Given the description of an element on the screen output the (x, y) to click on. 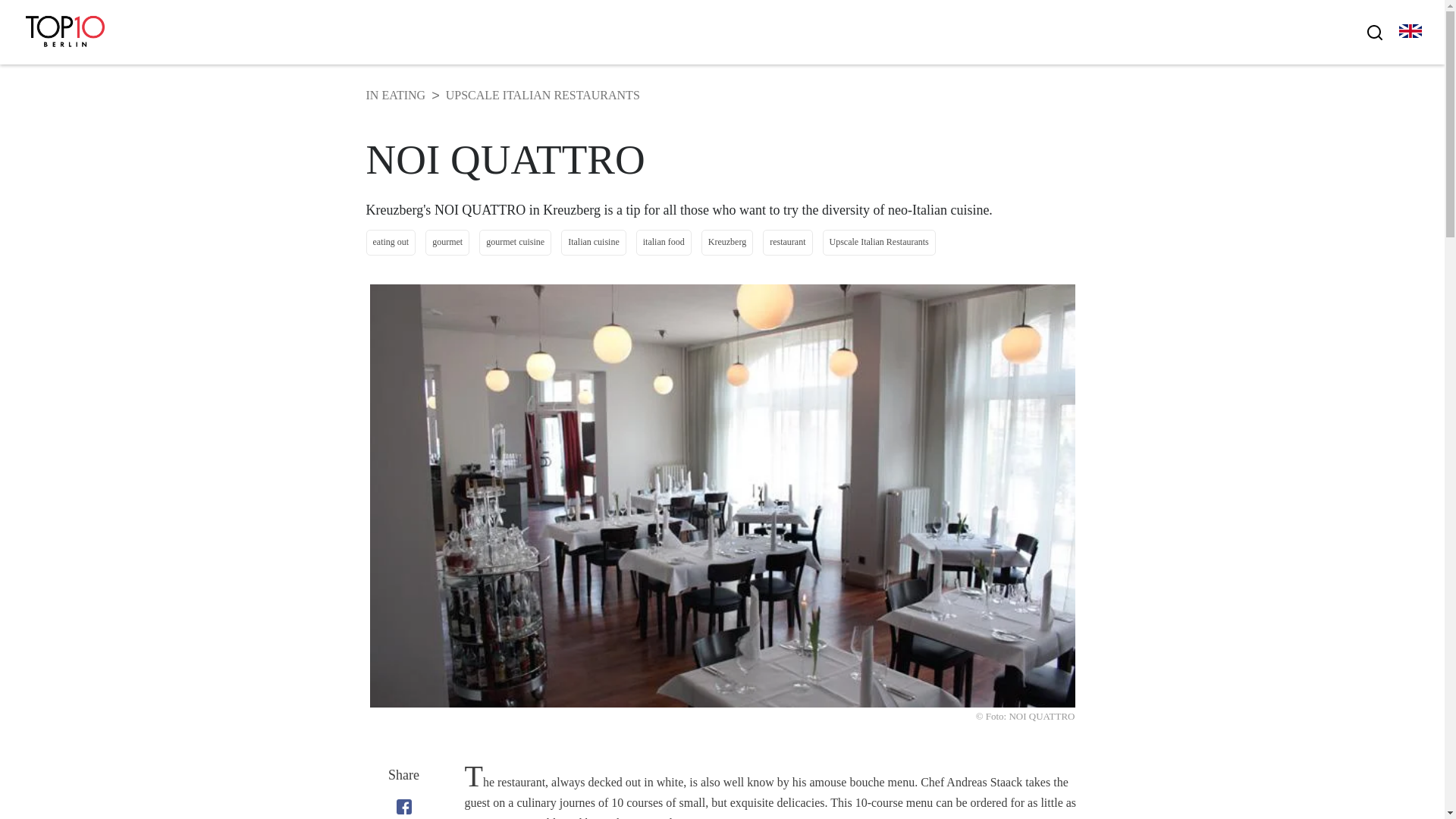
gourmet cuisine (515, 242)
restaurant (787, 242)
Kreuzberg (726, 242)
Kreuzberg (726, 242)
Upscale Italian Restaurants (878, 242)
restaurant (787, 242)
Italian cuisine (593, 242)
gourmet (446, 242)
eating out (389, 242)
italian food (663, 242)
